Given the description of an element on the screen output the (x, y) to click on. 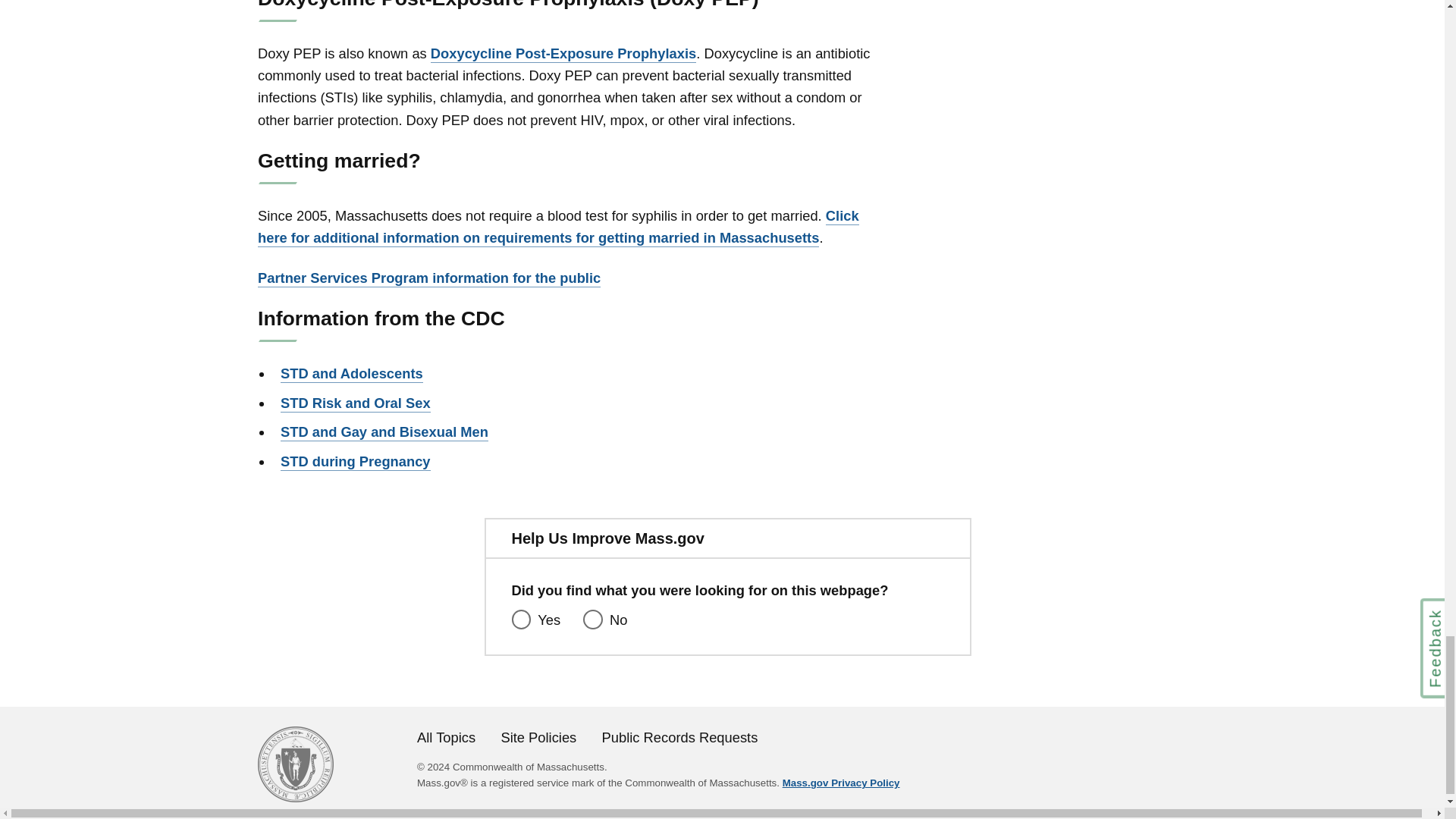
Mass.gov home page (295, 797)
